Given the description of an element on the screen output the (x, y) to click on. 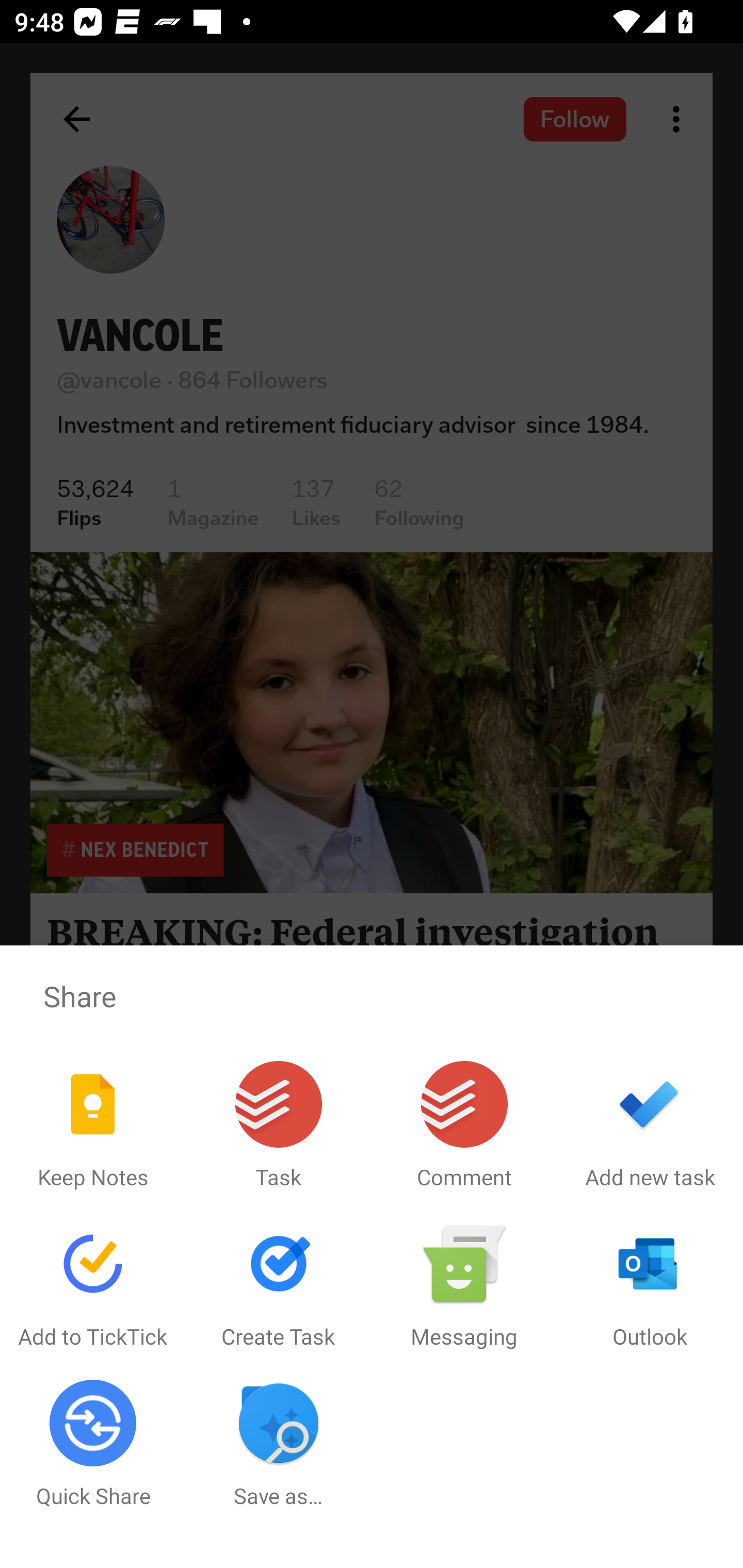
Keep Notes (92, 1125)
Task (278, 1125)
Comment (464, 1125)
Add new task (650, 1125)
Add to TickTick (92, 1285)
Create Task (278, 1285)
Messaging (464, 1285)
Outlook (650, 1285)
Quick Share (92, 1444)
Save as… (278, 1444)
